Given the description of an element on the screen output the (x, y) to click on. 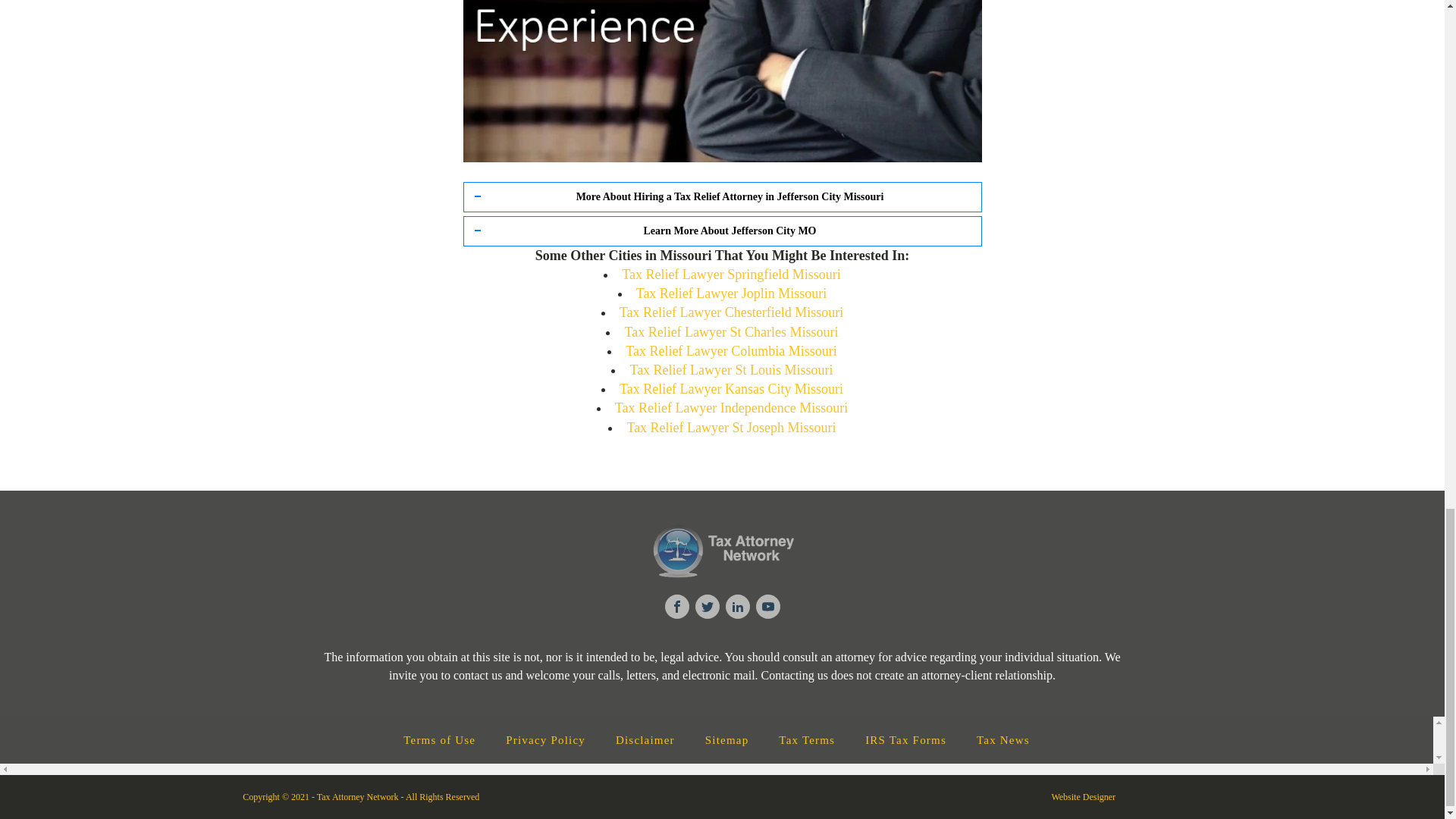
Tax Relief Lawyer St Joseph Missouri (730, 427)
Tax Relief Lawyer Chesterfield Missouri (732, 312)
Tax Relief Lawyer St Louis Missouri (730, 369)
Tax Relief Lawyer St Charles Missouri (731, 331)
Tax Relief Lawyer Kansas City Missouri (731, 388)
Tax Relief Lawyer Independence Missouri (731, 407)
Tax Relief Lawyer Columbia Missouri (731, 350)
Tax Relief Lawyer Joplin Missouri (731, 293)
Tax Relief Lawyer Springfield Missouri (731, 273)
